Given the description of an element on the screen output the (x, y) to click on. 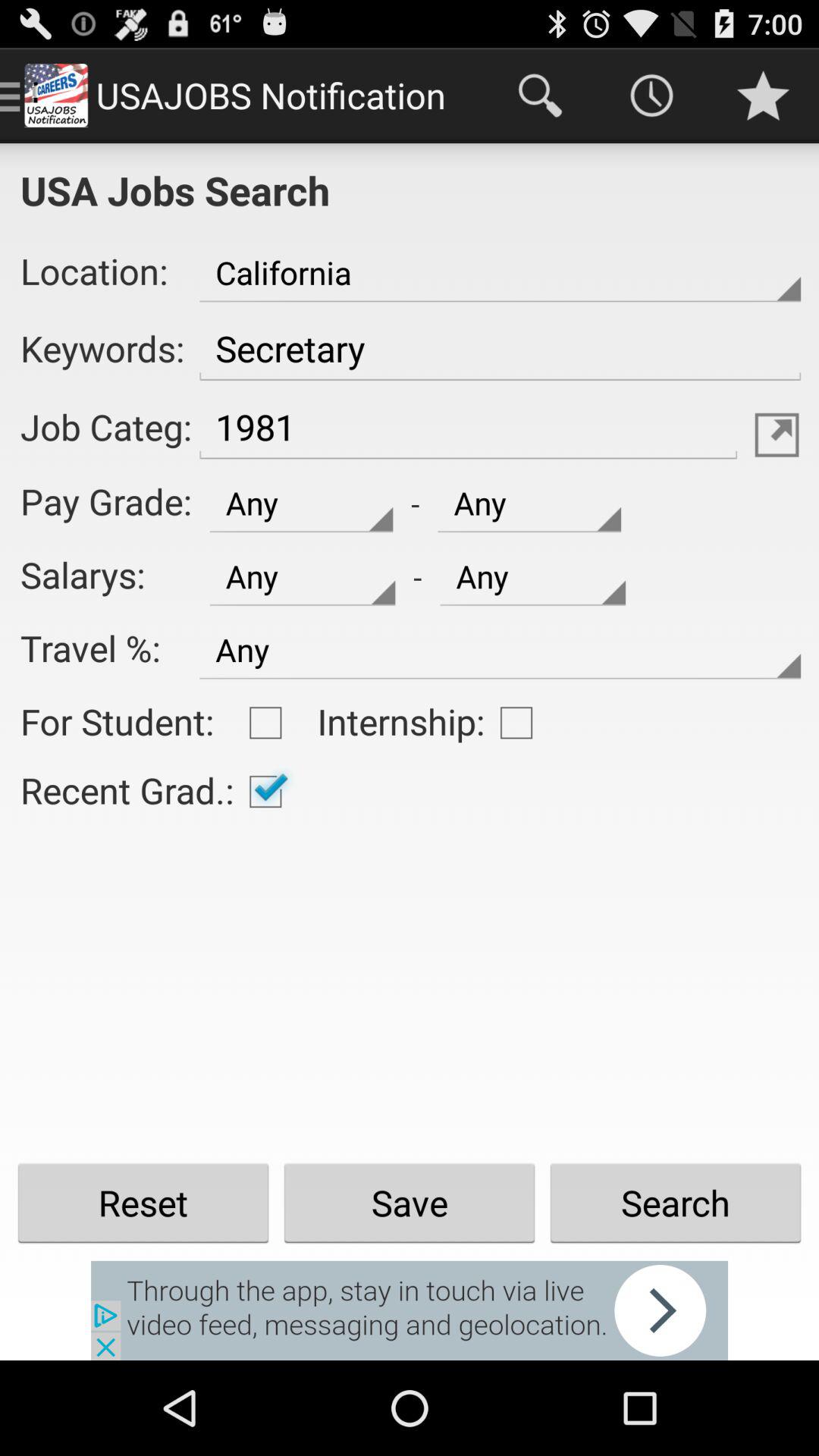
send mail (776, 434)
